Given the description of an element on the screen output the (x, y) to click on. 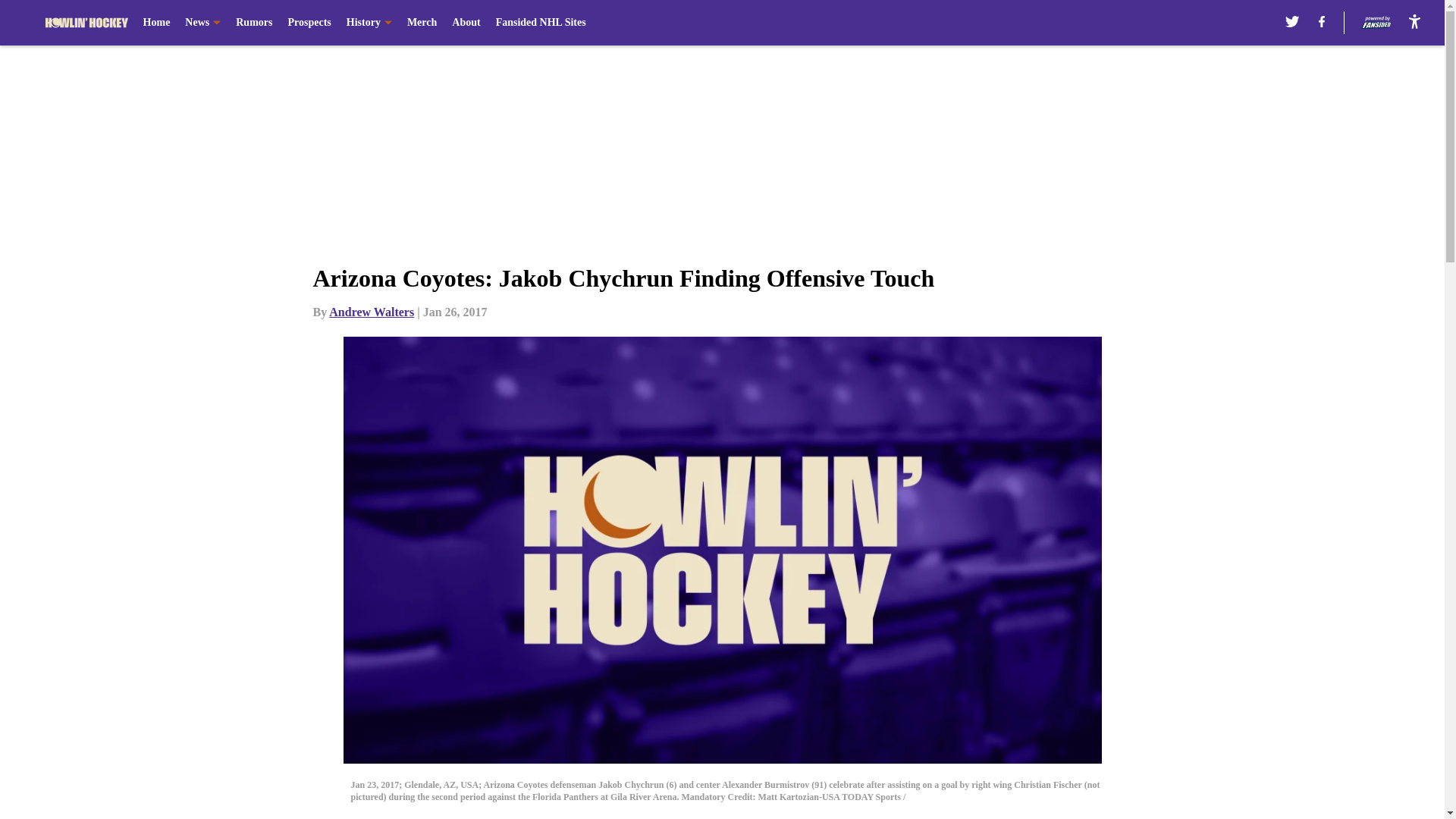
Prospects (308, 22)
Andrew Walters (371, 311)
Fansided NHL Sites (541, 22)
Merch (421, 22)
Rumors (253, 22)
About (465, 22)
Home (156, 22)
